Given the description of an element on the screen output the (x, y) to click on. 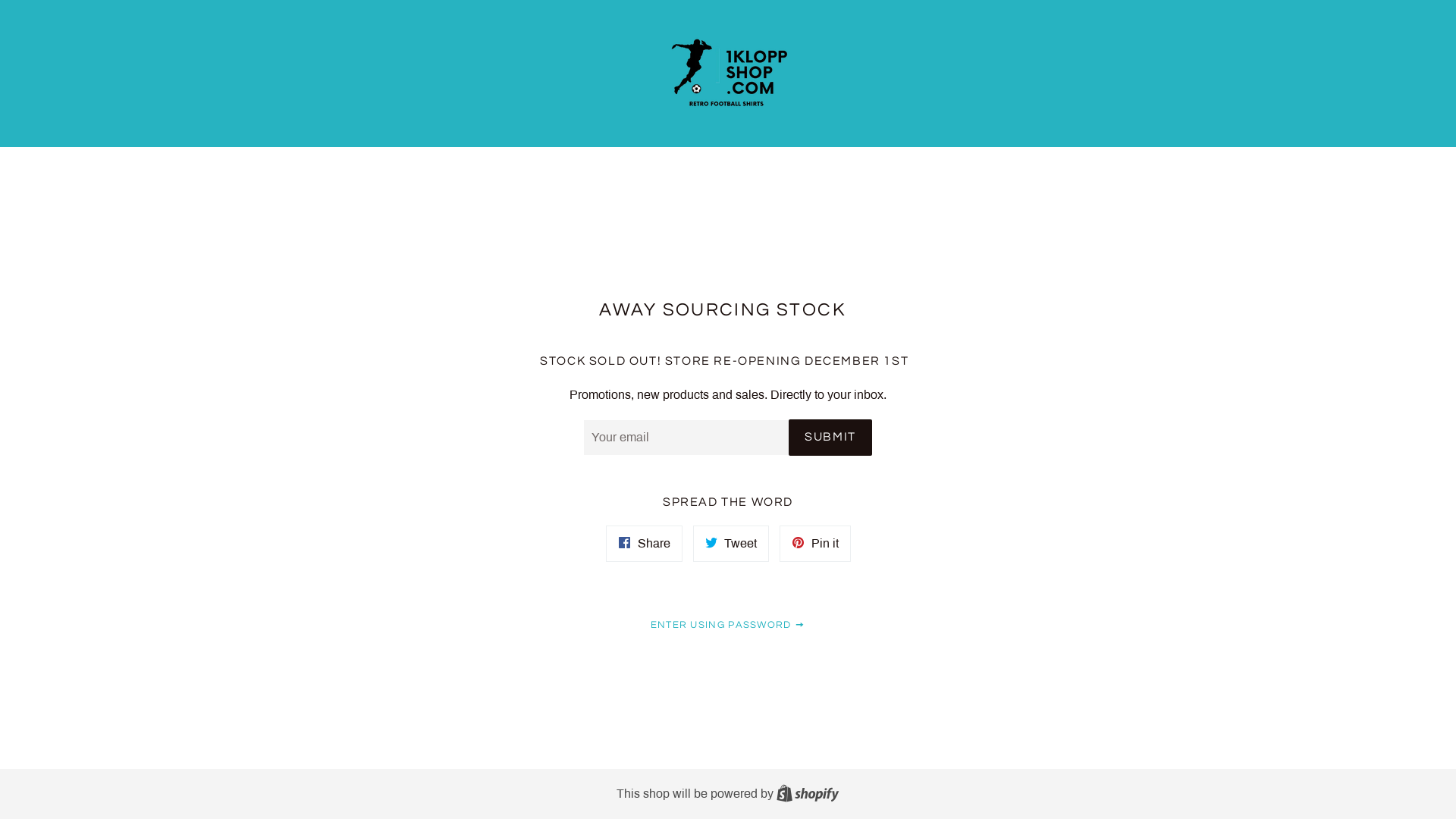
Share
Share on Facebook Element type: text (643, 543)
Shopify logo
Shopify Element type: text (807, 793)
SUBMIT Element type: text (830, 437)
Tweet
Tweet on Twitter Element type: text (730, 543)
ENTER USING PASSWORD Element type: text (728, 624)
Pin it
Pin on Pinterest Element type: text (814, 543)
